Given the description of an element on the screen output the (x, y) to click on. 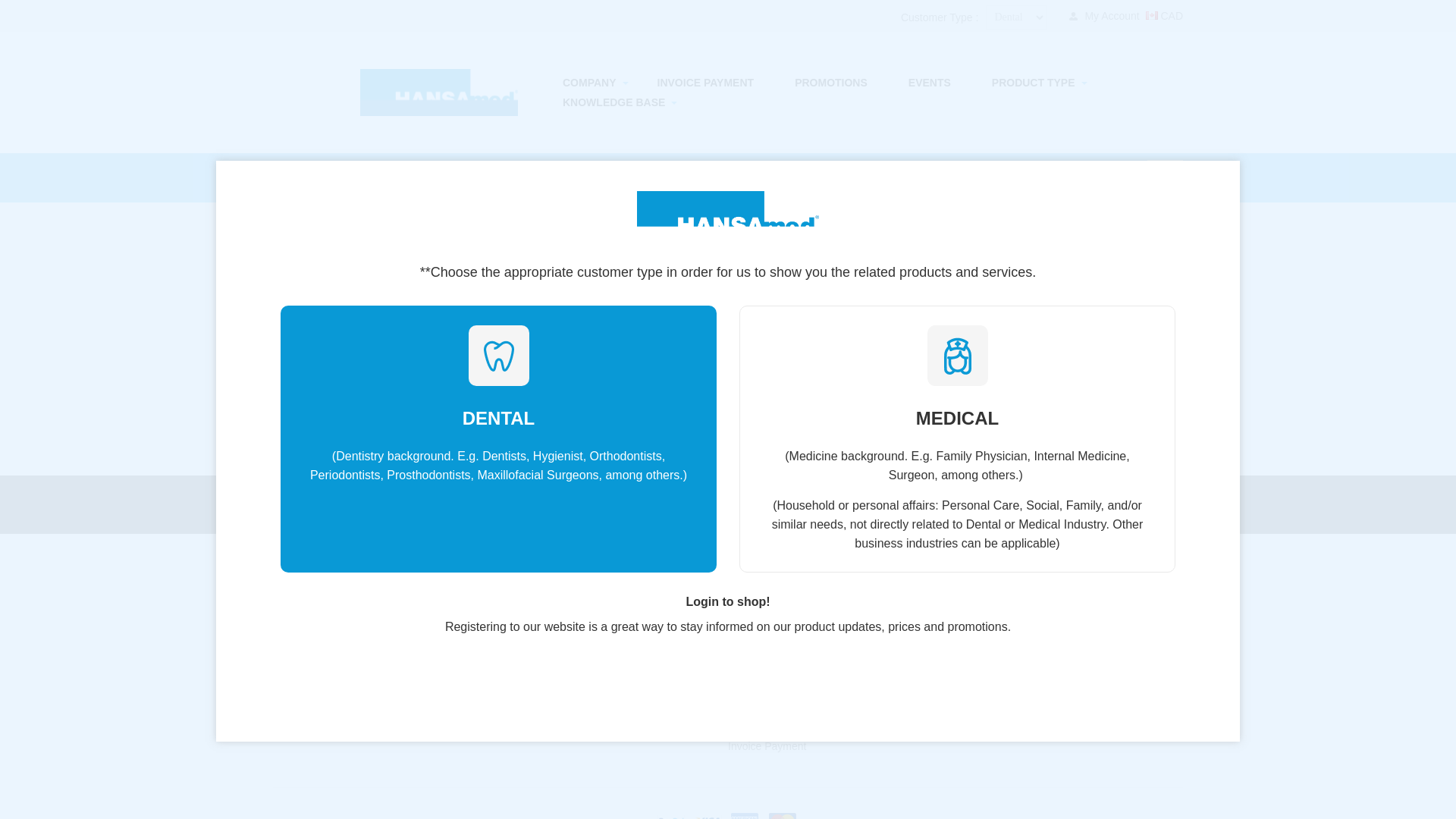
Product Type (1033, 82)
Company (589, 82)
Knowledge Base (613, 102)
PRODUCT TYPE (1033, 82)
PROMOTIONS (831, 82)
Prices are in Canadian Dollars (1163, 15)
KNOWLEDGE BASE (613, 102)
Invoice Payment (705, 82)
EVENTS (929, 82)
INVOICE PAYMENT (705, 82)
